Given the description of an element on the screen output the (x, y) to click on. 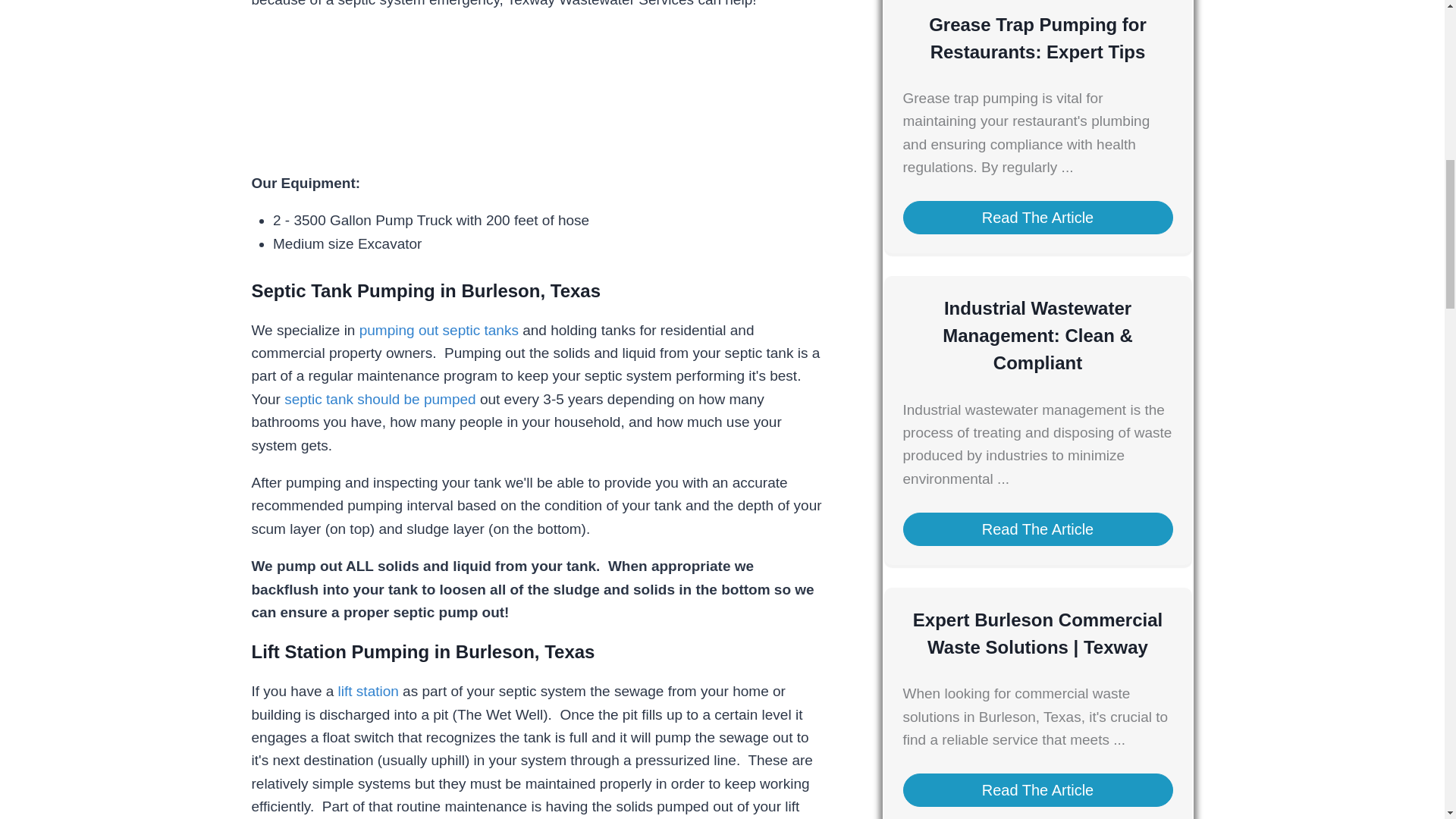
septic-pumping (758, 91)
lift-station-pumping (610, 91)
septic tank should be pumped (379, 399)
septic-tank-pumping (317, 91)
lift station (367, 691)
holding-tank-pump-outs (463, 91)
Grease Trap Pumping for Restaurants: Expert Tips (1037, 38)
pumping out septic tanks (438, 330)
